Given the description of an element on the screen output the (x, y) to click on. 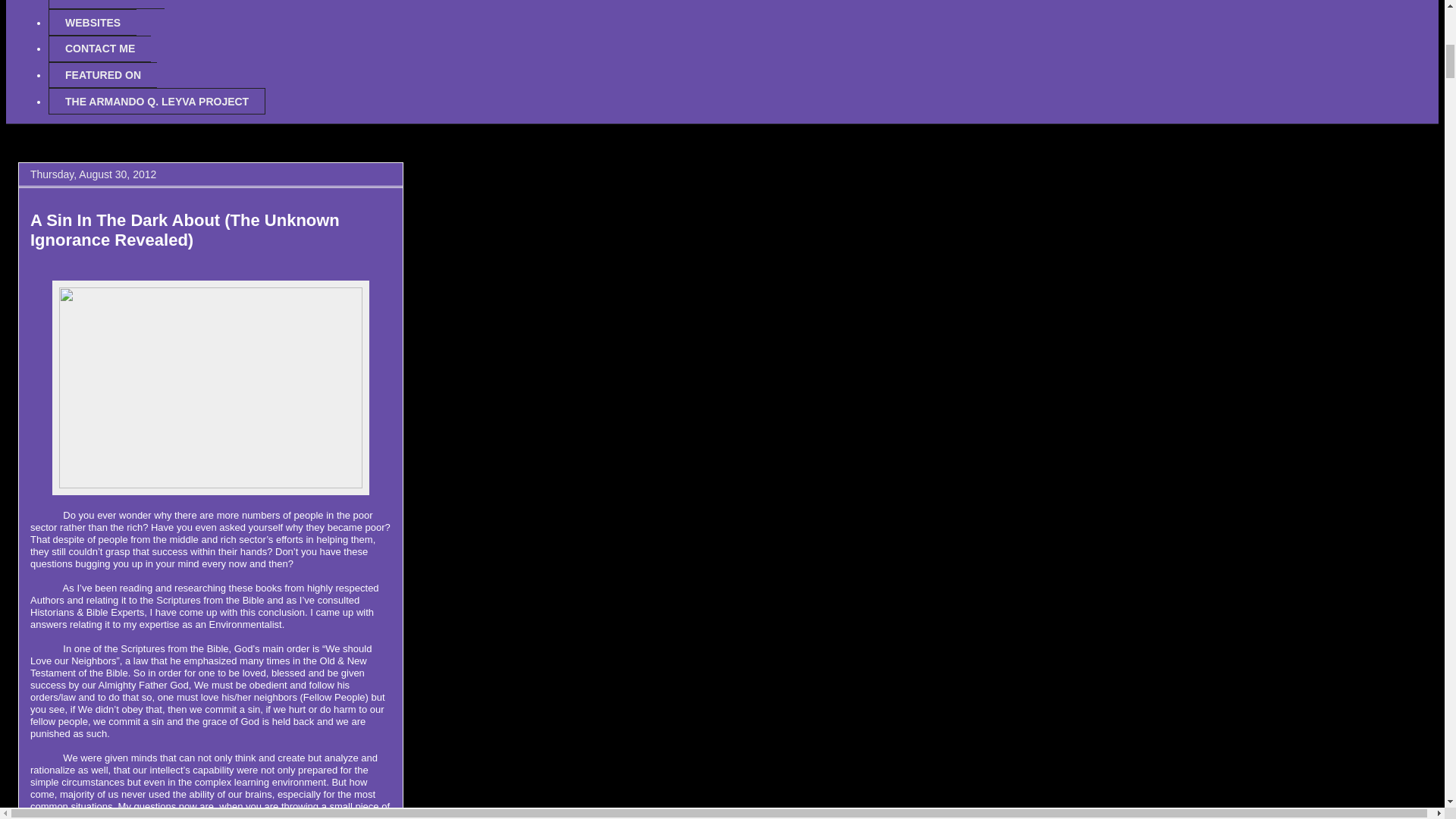
THE ARMANDO Q. LEYVA PROJECT (156, 100)
CONTACT ME (99, 49)
MEMORABILIAS (106, 4)
FEATURED ON (102, 75)
WEBSITES (92, 22)
